Given the description of an element on the screen output the (x, y) to click on. 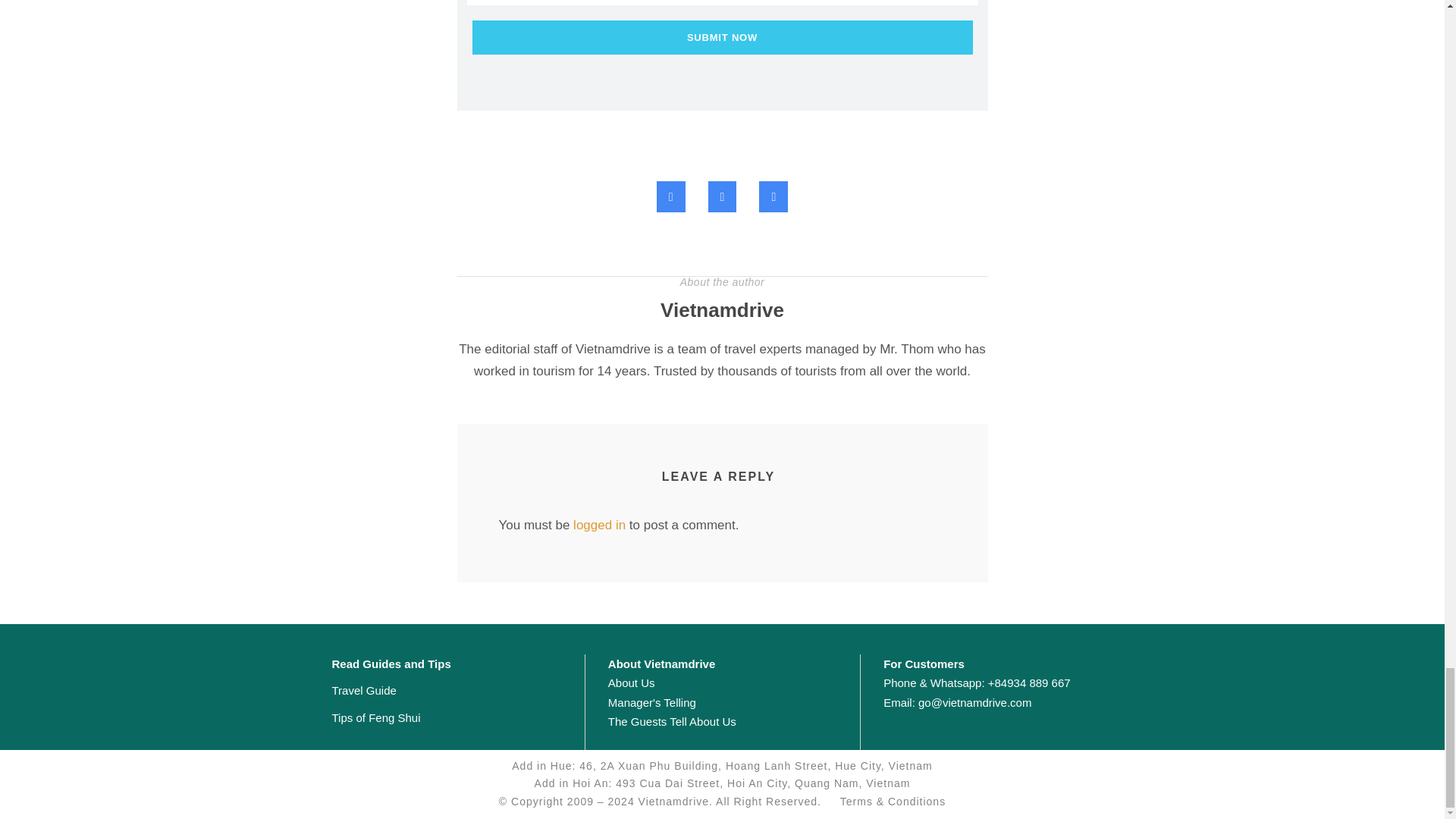
Submit Now (721, 37)
Posts by Vietnamdrive (722, 309)
